Given the description of an element on the screen output the (x, y) to click on. 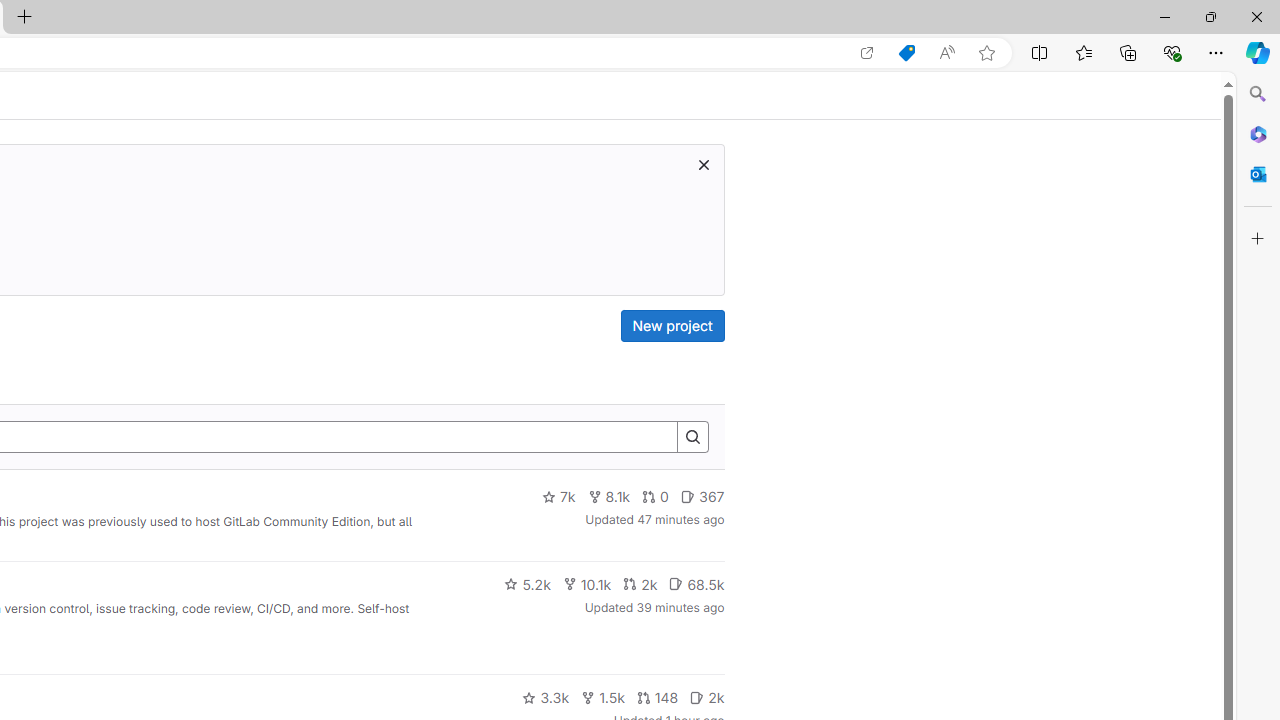
5.2k (527, 583)
1.5k (602, 697)
0 (655, 497)
New project (671, 326)
Class: s14 gl-mr-2 (697, 696)
367 (701, 497)
7k (558, 497)
